Given the description of an element on the screen output the (x, y) to click on. 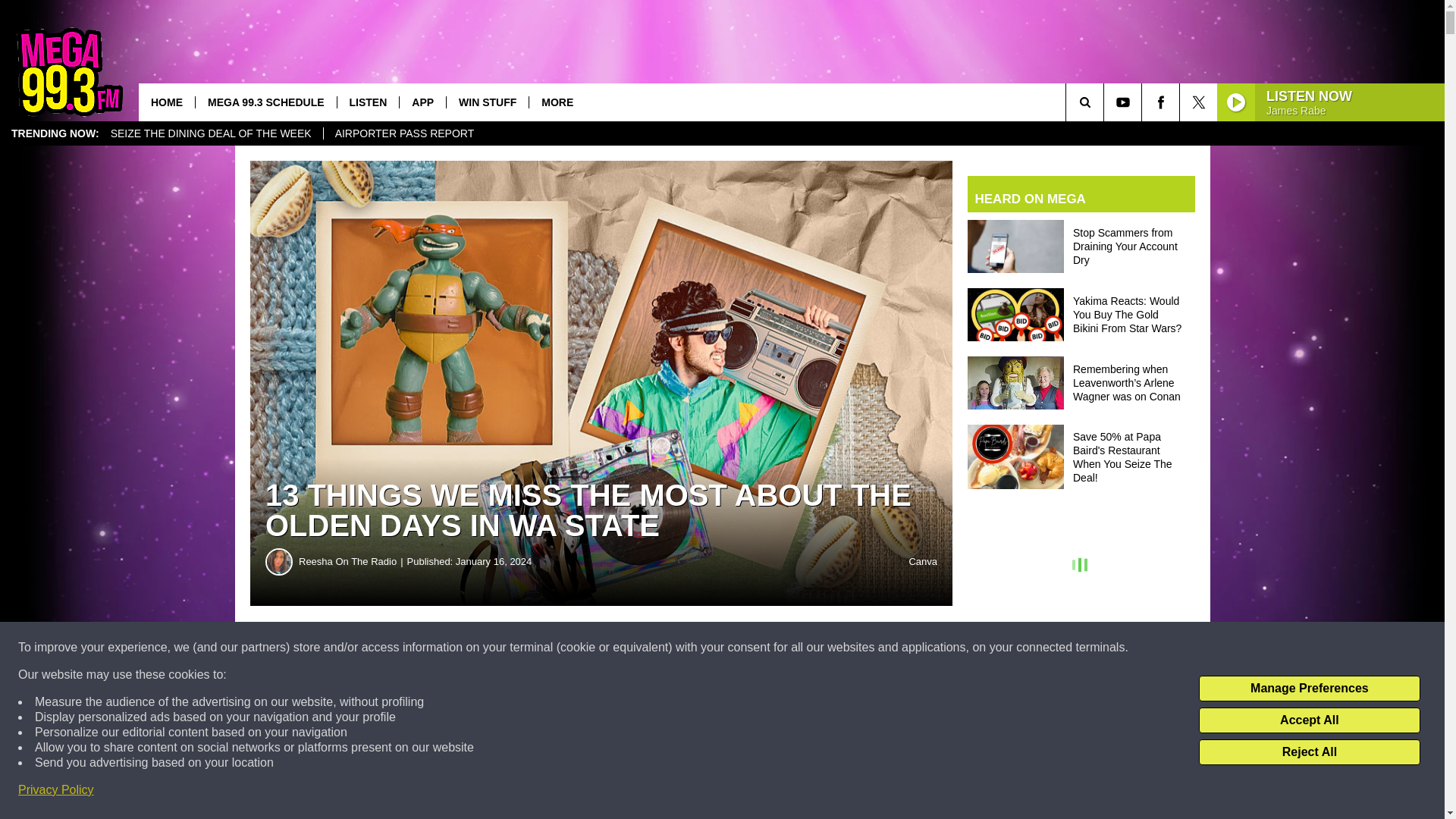
LISTEN (367, 102)
MEGA 99.3 SCHEDULE (265, 102)
SEARCH (1106, 102)
SEARCH (1106, 102)
Manage Preferences (1309, 688)
Share on Facebook (460, 647)
Accept All (1309, 720)
AIRPORTER PASS REPORT (404, 133)
HOME (166, 102)
APP (421, 102)
Share on Twitter (741, 647)
Reject All (1309, 751)
Privacy Policy (55, 789)
MORE (556, 102)
WIN STUFF (486, 102)
